Given the description of an element on the screen output the (x, y) to click on. 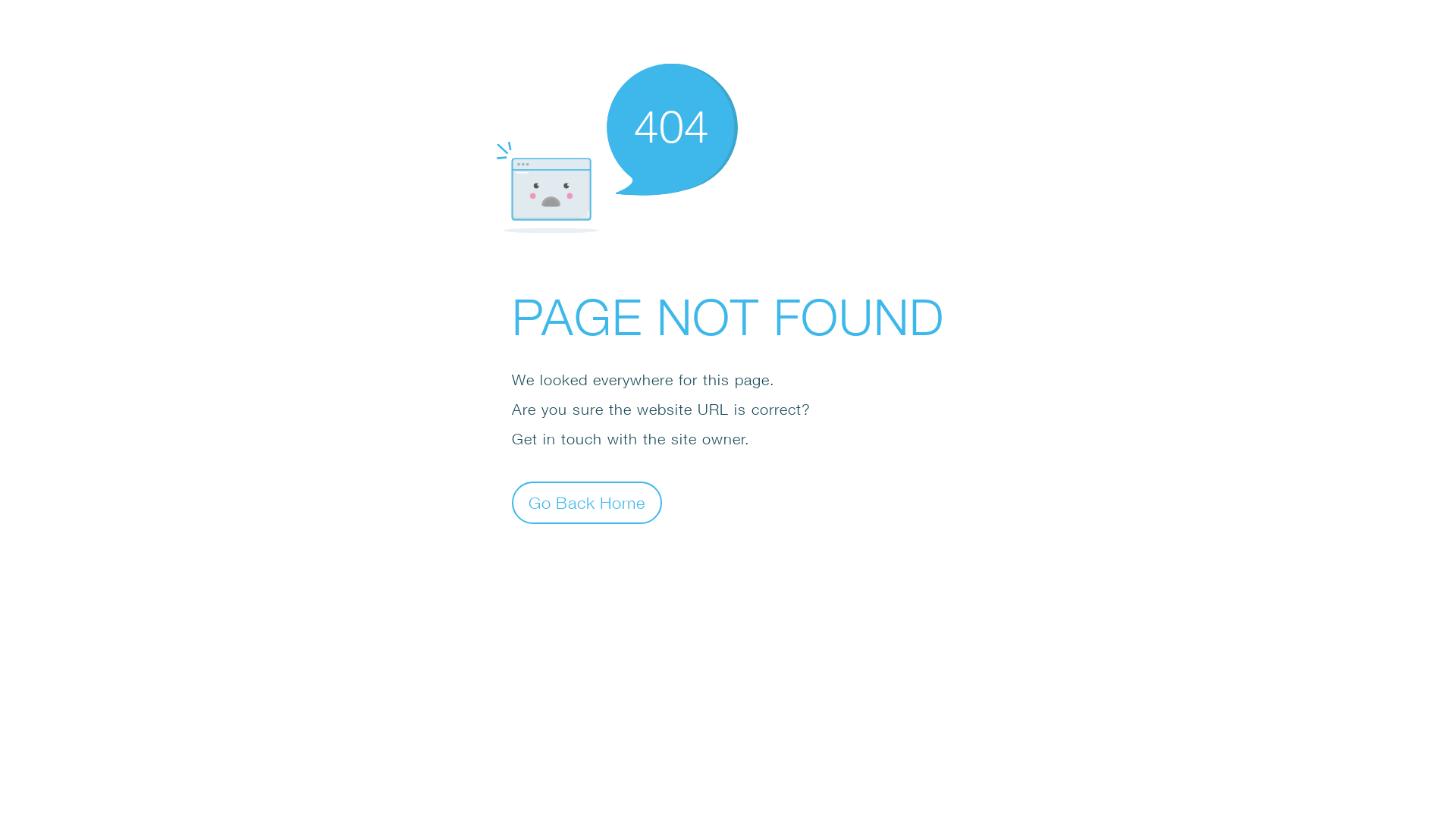
Go Back Home Element type: text (586, 502)
